Given the description of an element on the screen output the (x, y) to click on. 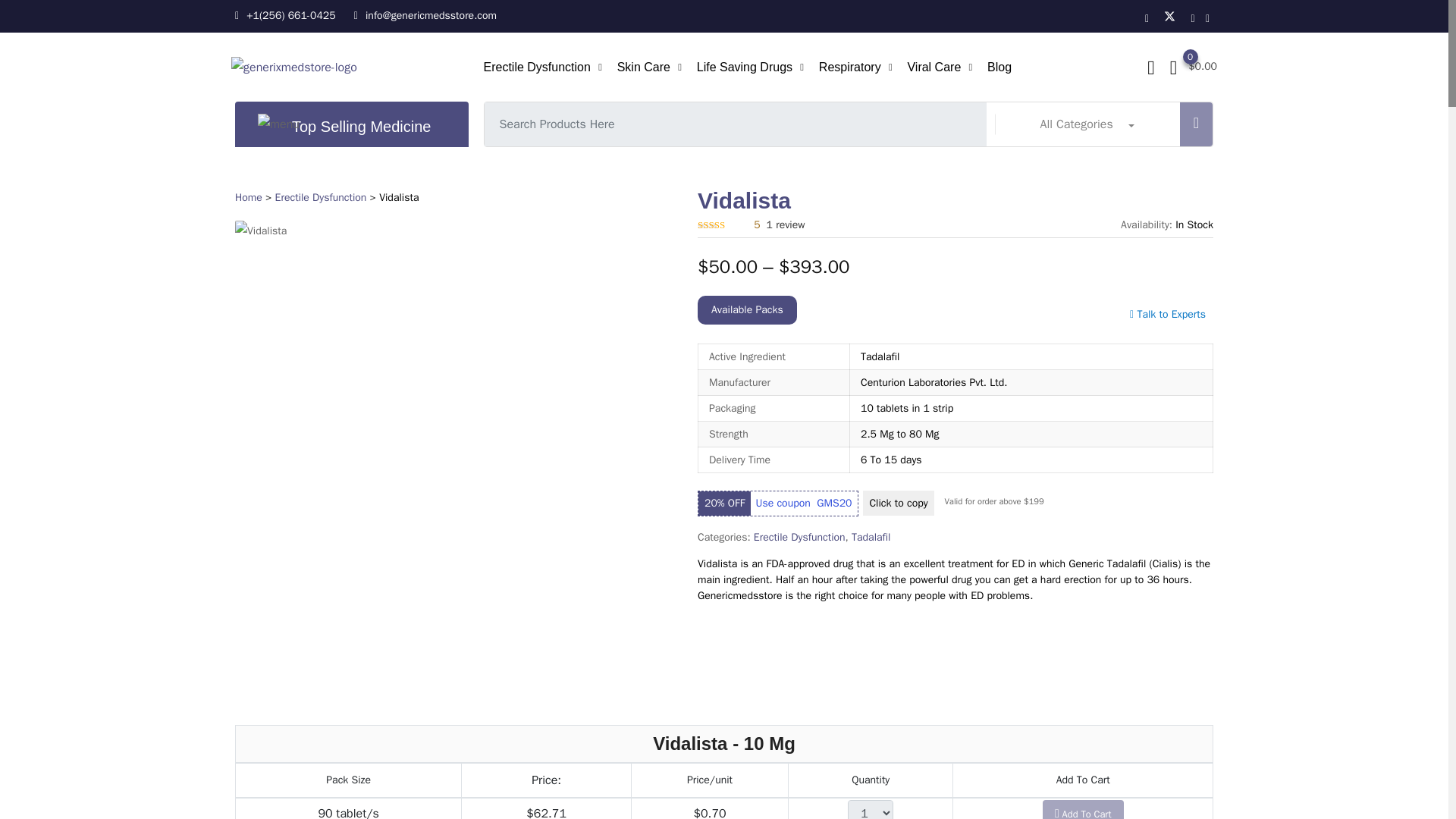
Erectile Dysfunction (536, 66)
Life Saving Drugs (744, 66)
Skin Care (643, 66)
Add To Cart Button (1083, 809)
Qty (870, 809)
